Given the description of an element on the screen output the (x, y) to click on. 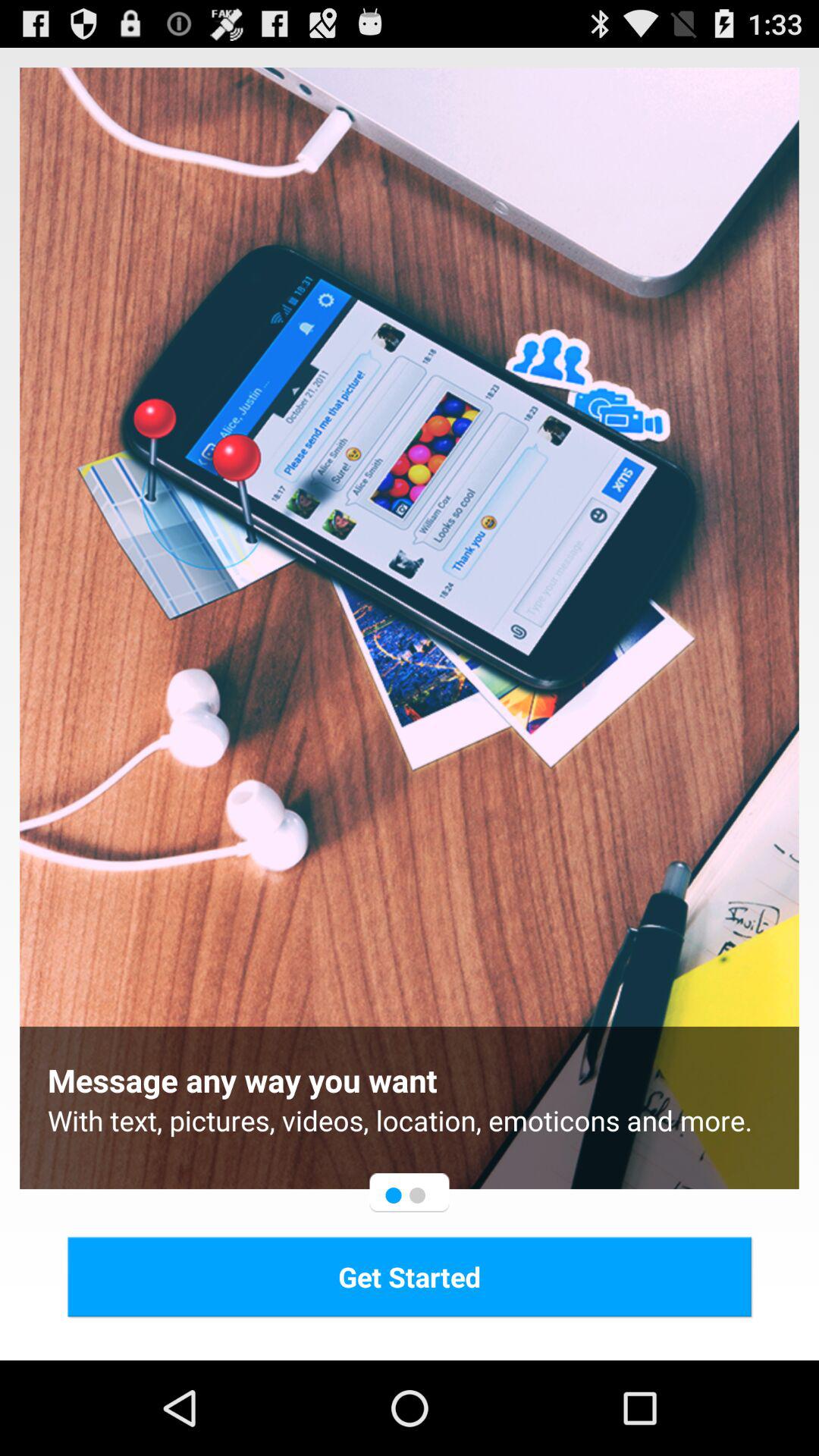
swipe until get started item (409, 1276)
